Given the description of an element on the screen output the (x, y) to click on. 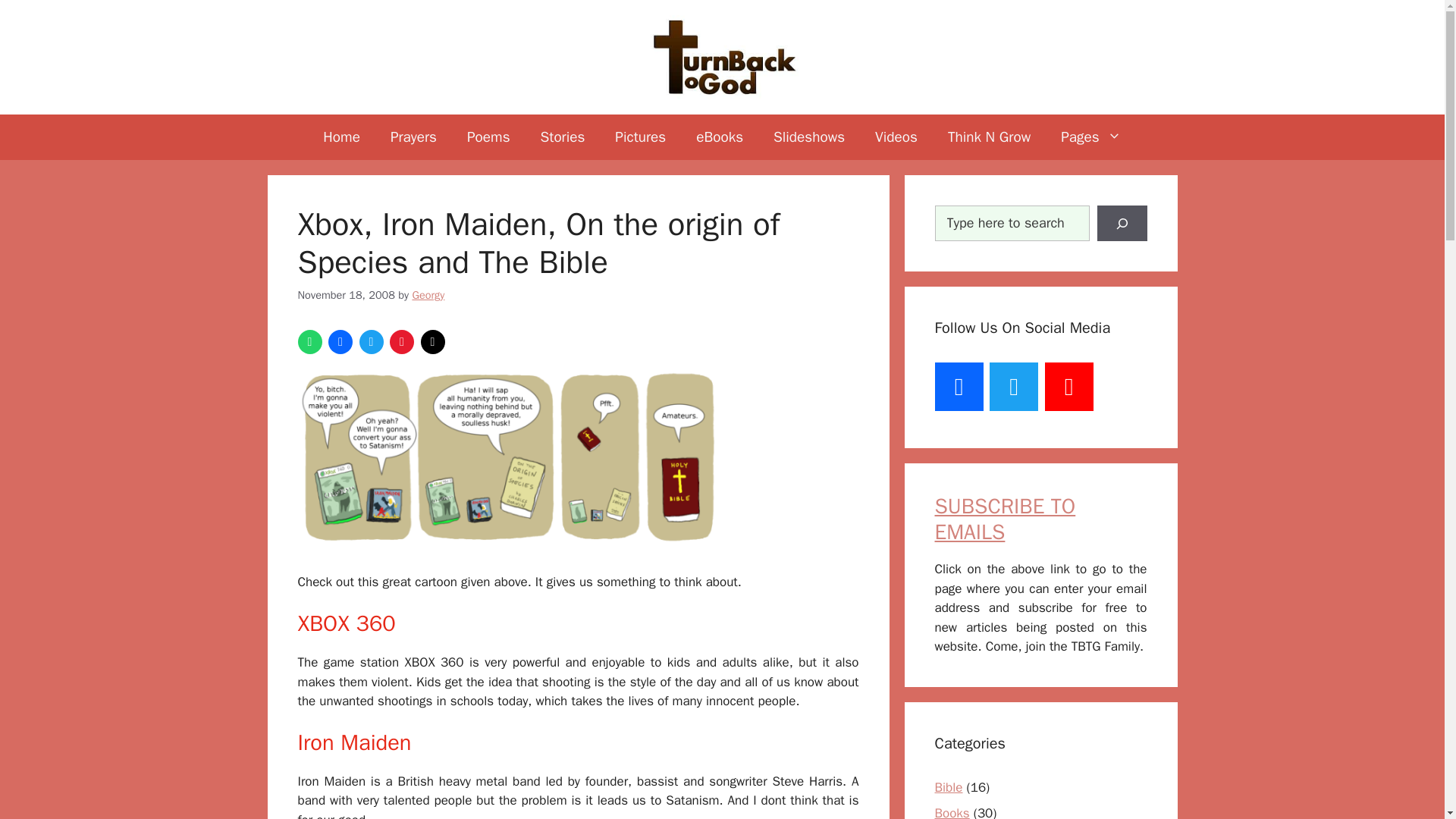
View all posts by Georgy (428, 295)
Turnback To God (721, 56)
Stories (562, 136)
Poems (488, 136)
Home (341, 136)
Georgy (428, 295)
Pages (1091, 136)
Share via Twitter (371, 341)
Prayers (413, 136)
Turnback To God (721, 57)
